Given the description of an element on the screen output the (x, y) to click on. 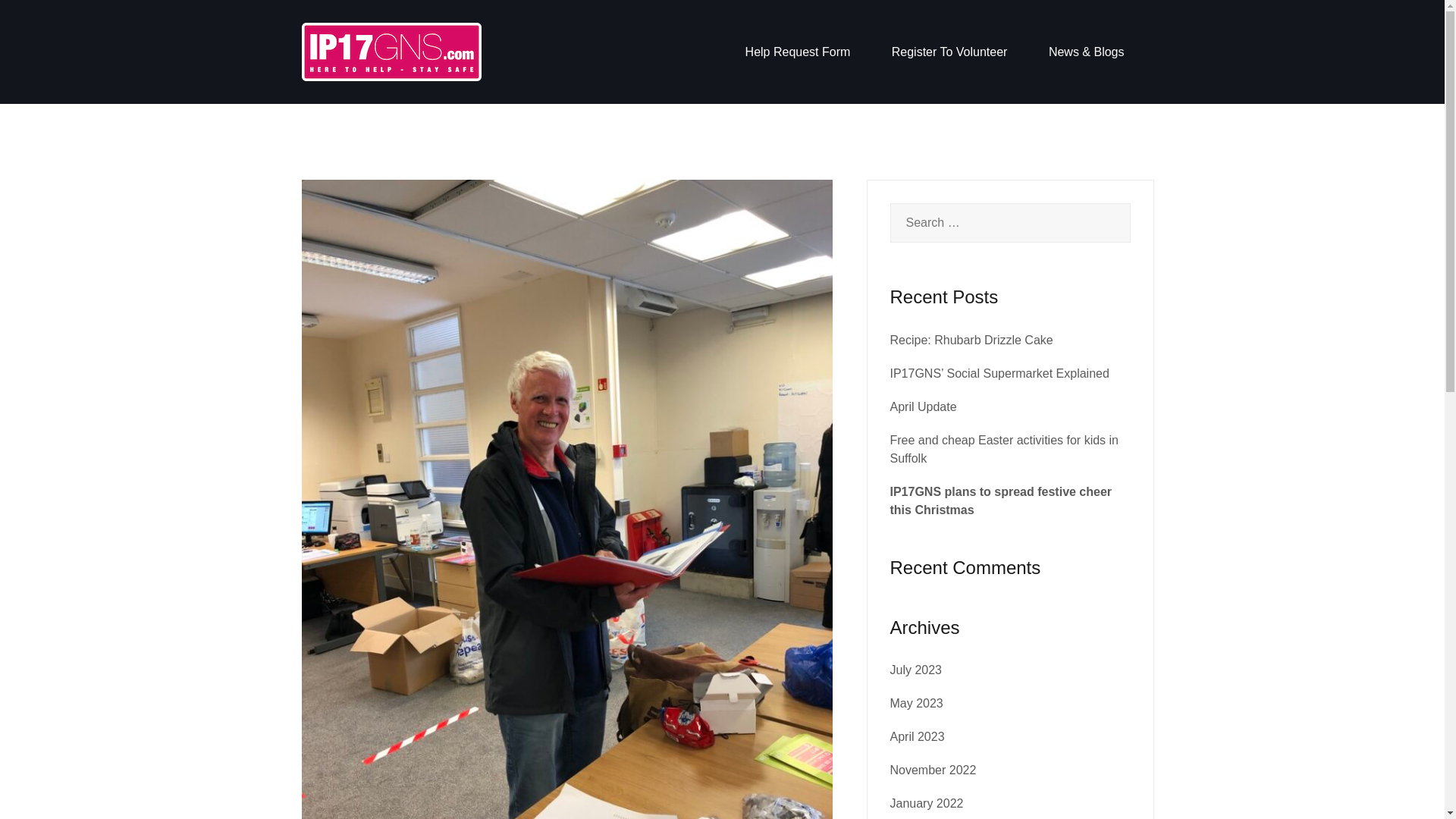
Free and cheap Easter activities for kids in Suffolk (1003, 449)
January 2022 (926, 802)
November 2022 (932, 769)
Recipe: Rhubarb Drizzle Cake (970, 339)
Search (47, 19)
April Update (922, 406)
May 2023 (916, 703)
Help Request Form (797, 51)
April 2023 (916, 736)
IP17GNS plans to spread festive cheer this Christmas (1000, 500)
